Given the description of an element on the screen output the (x, y) to click on. 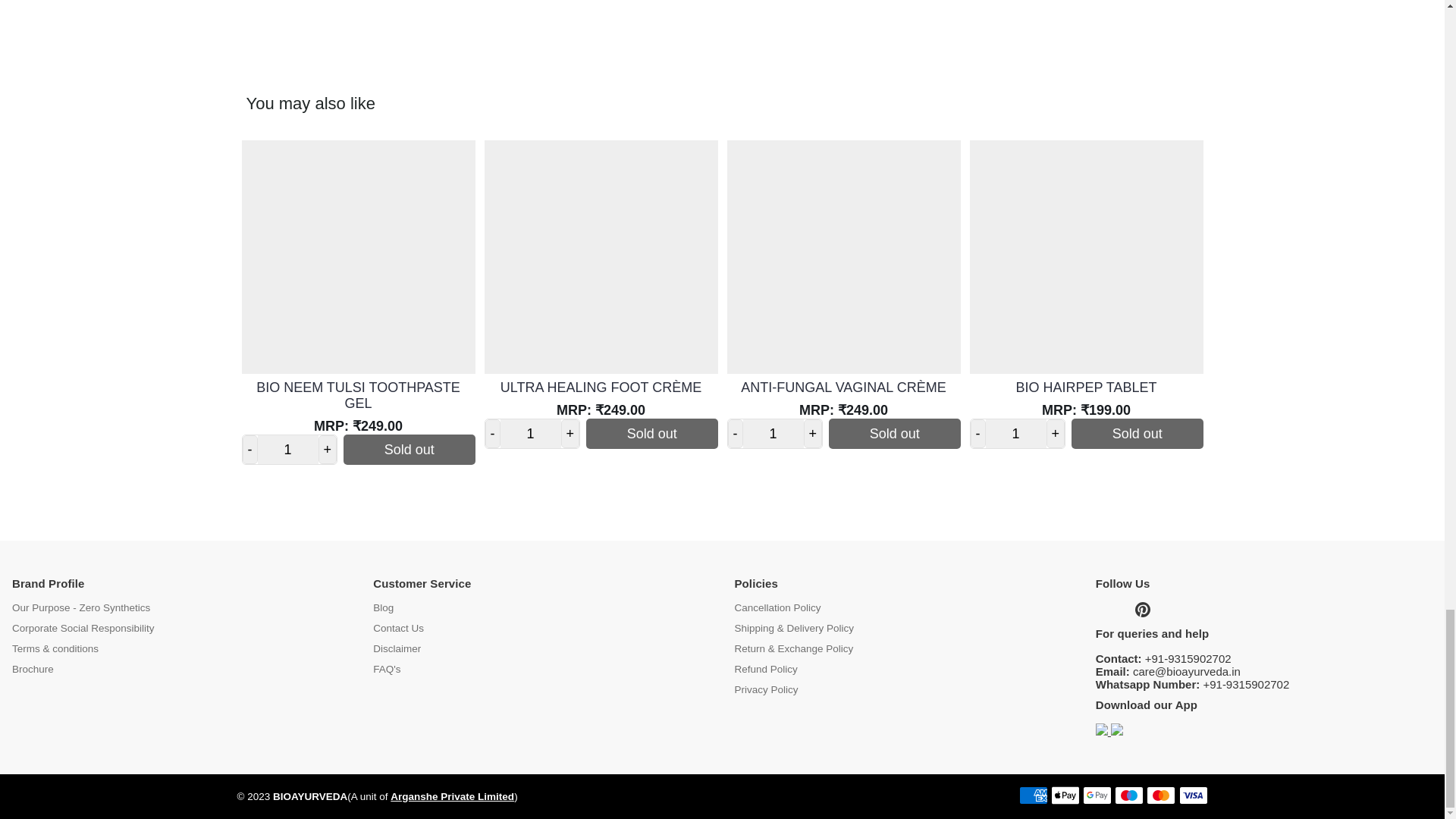
1 (772, 433)
Maestro (1128, 795)
Visa (1192, 795)
Google Pay (1097, 795)
1 (287, 449)
Mastercard (1160, 795)
1 (530, 433)
Apple Pay (1065, 795)
American Express (1033, 795)
1 (1015, 433)
